Given the description of an element on the screen output the (x, y) to click on. 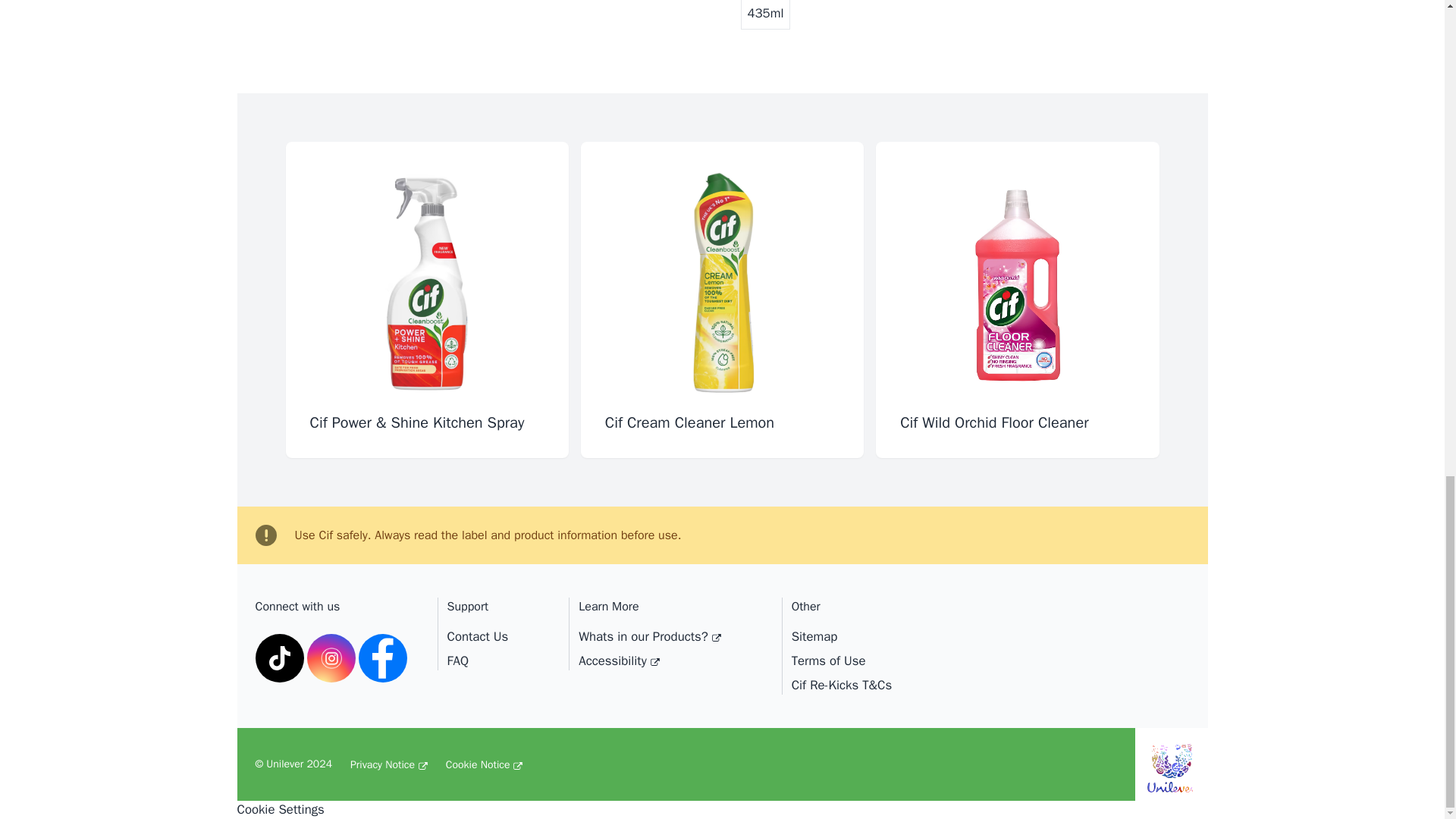
Facebook (382, 657)
Contact Us (477, 639)
Opens in New Tab (389, 764)
Opens in New Tab (618, 660)
Opens in New Tab (649, 639)
Cif Wild Orchid Floor Cleaner (1017, 299)
Opens in New Tab (483, 764)
Opens in New Tab (330, 657)
FAQ (457, 660)
Terms of Use (841, 664)
